Given the description of an element on the screen output the (x, y) to click on. 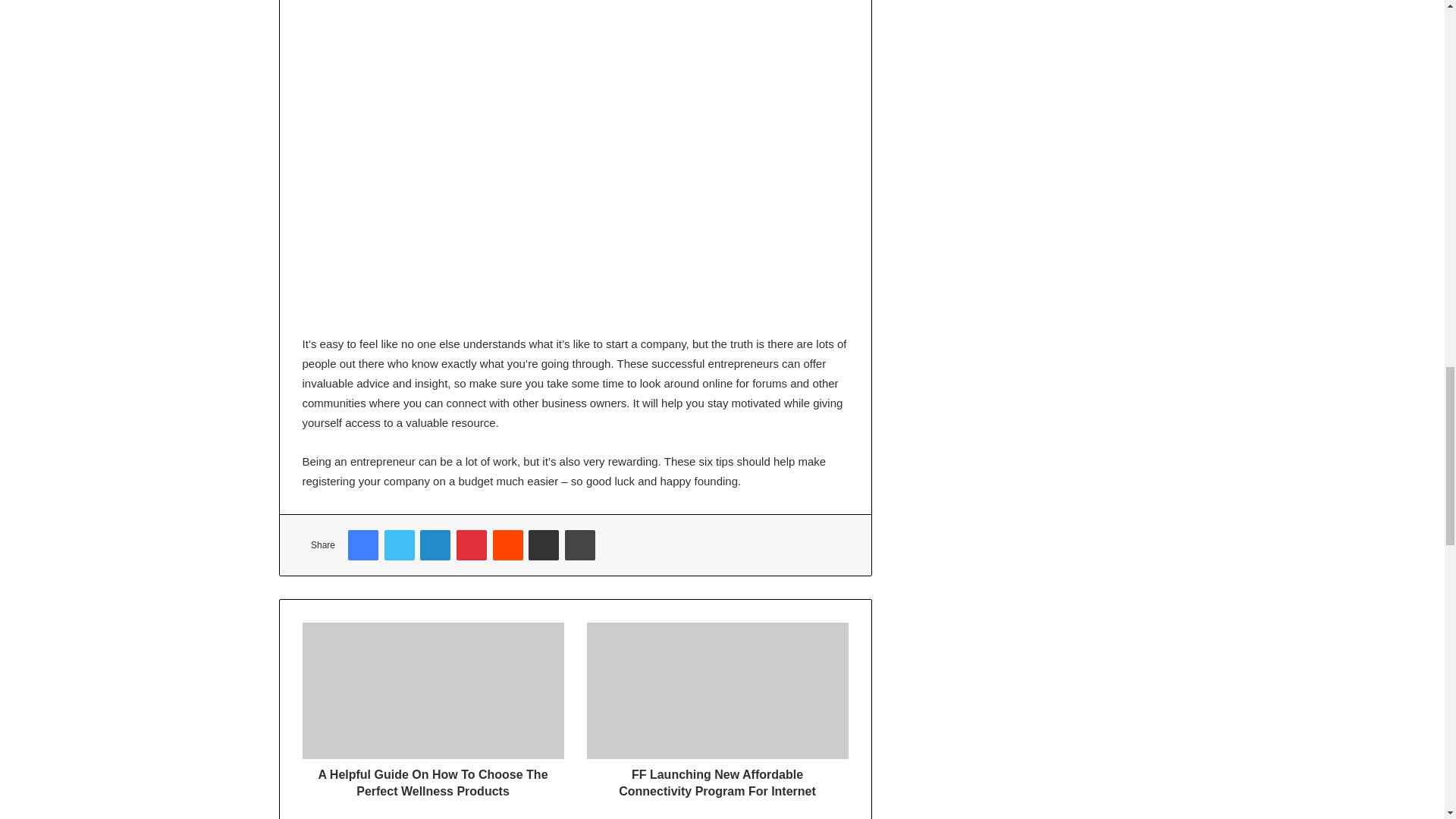
Reddit (507, 544)
LinkedIn (434, 544)
Share via Email (543, 544)
LinkedIn (434, 544)
Facebook (362, 544)
Pinterest (471, 544)
Print (579, 544)
Facebook (362, 544)
Twitter (399, 544)
Twitter (399, 544)
